Given the description of an element on the screen output the (x, y) to click on. 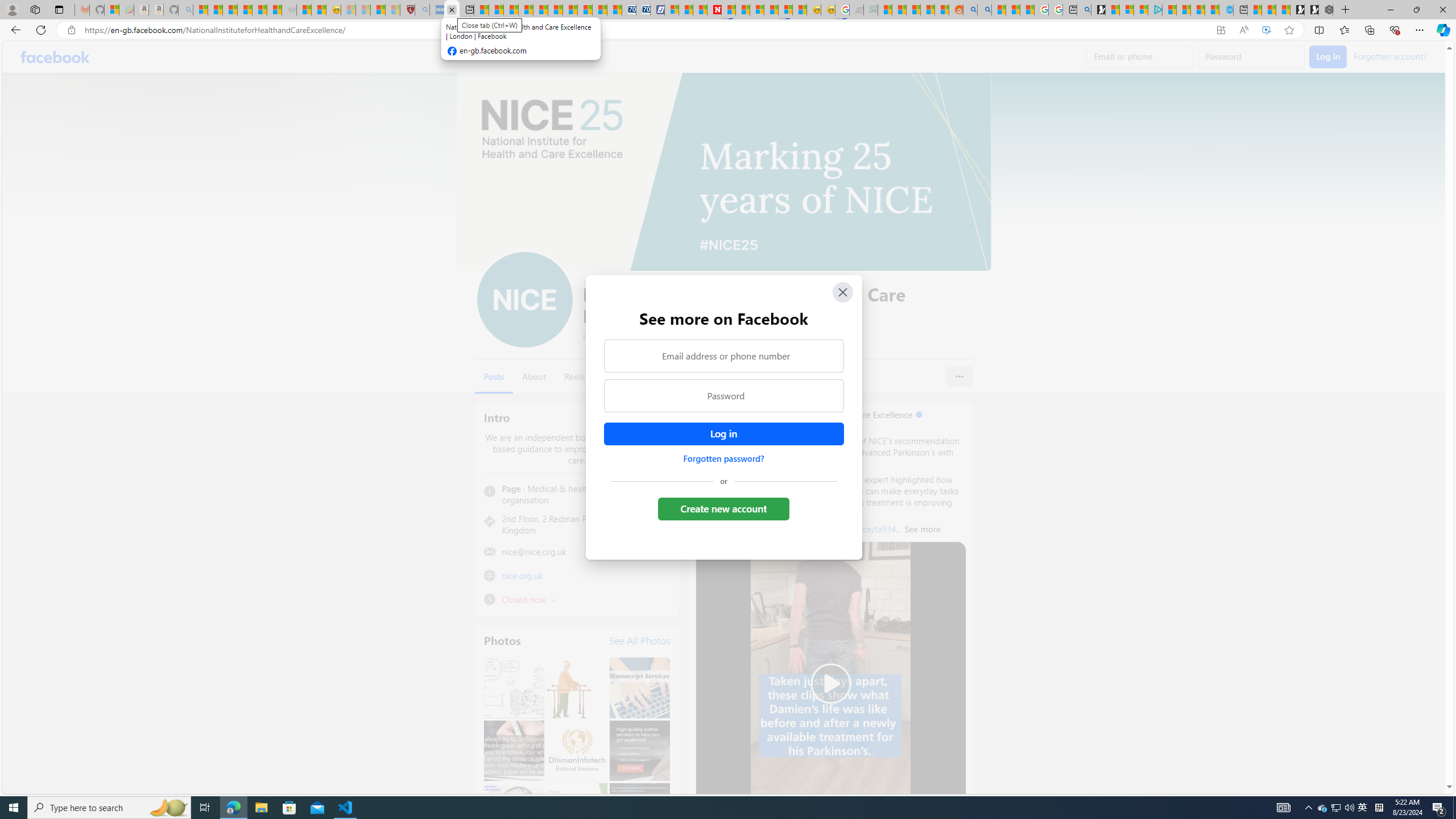
14 Common Myths Debunked By Scientific Facts (742, 9)
Forgotten password? (723, 458)
12 Popular Science Lies that Must be Corrected - Sleeping (392, 9)
Enhance video (1266, 29)
Navy Quest (855, 9)
